Given the description of an element on the screen output the (x, y) to click on. 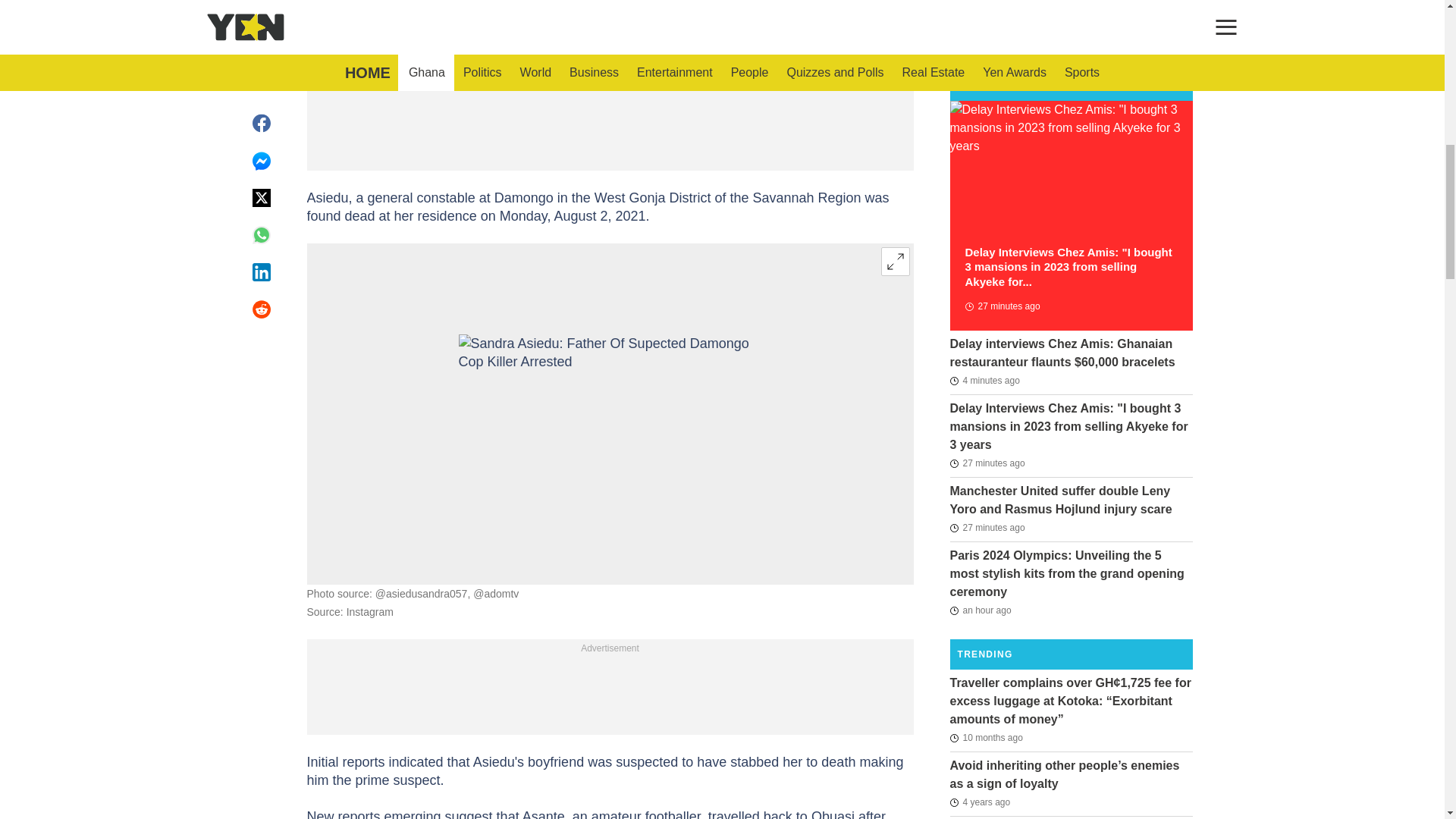
2024-07-28T09:30:46Z (984, 380)
2024-07-28T08:17:04Z (979, 610)
2023-09-13T14:23:38Z (985, 737)
2024-07-28T09:07:53Z (987, 527)
2024-07-28T09:08:03Z (987, 463)
2020-02-26T18:01:56Z (979, 802)
Expand image (895, 261)
2024-07-28T09:08:03Z (1001, 306)
